Given the description of an element on the screen output the (x, y) to click on. 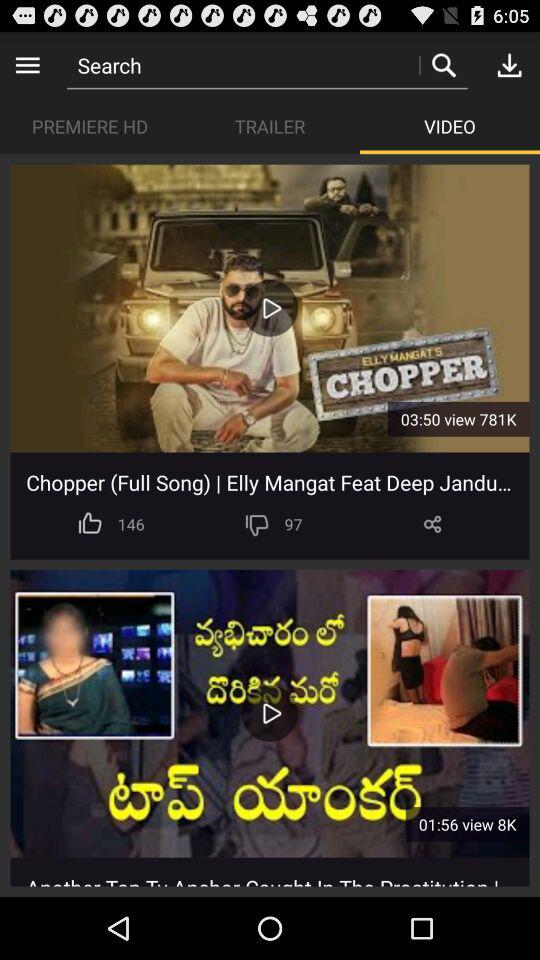
turn off the icon below the trailer (269, 307)
